Given the description of an element on the screen output the (x, y) to click on. 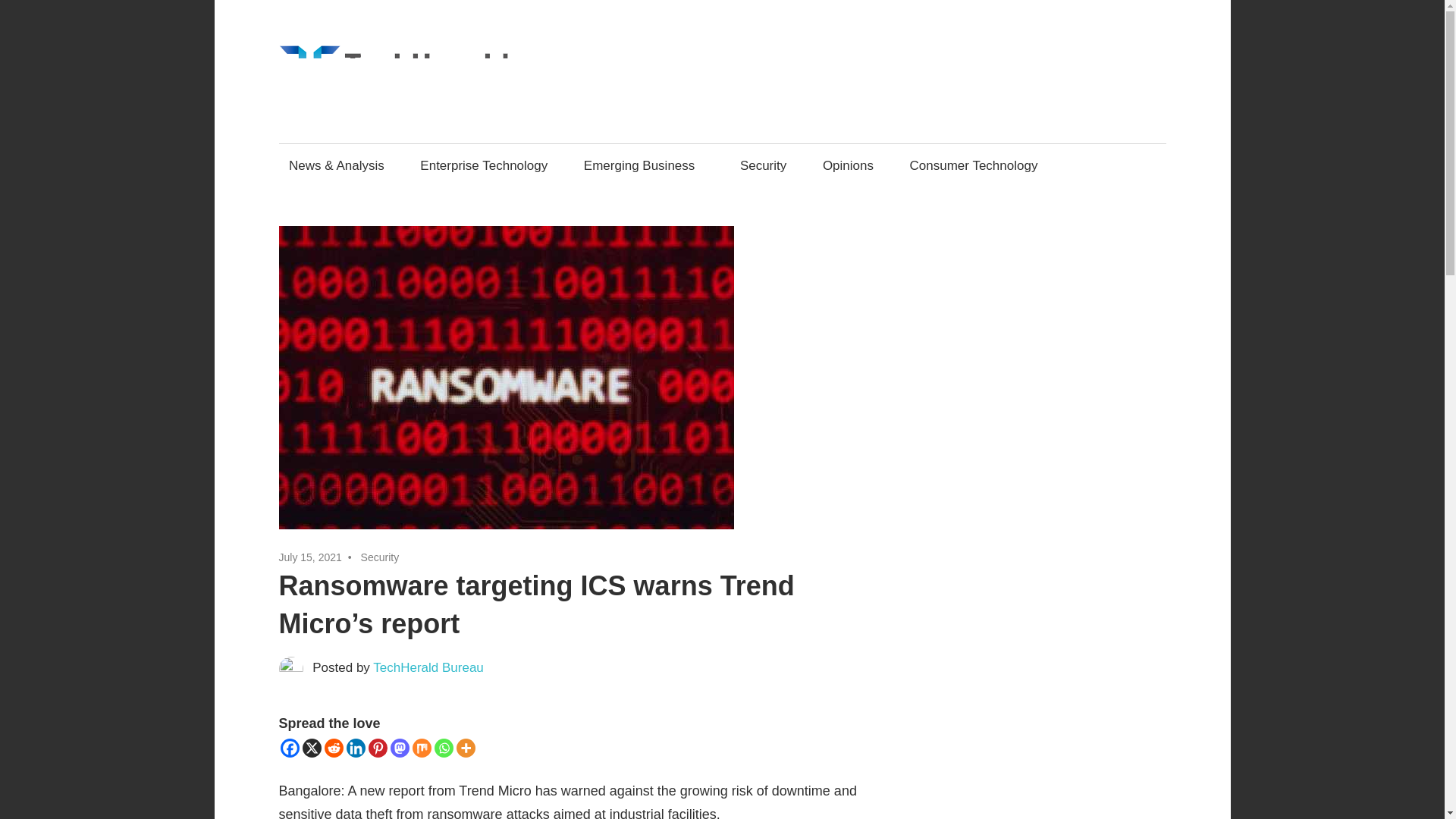
Whatsapp (442, 747)
Security (762, 164)
View all posts by TechHerald Bureau (427, 667)
Linkedin (355, 747)
TechHerald Bureau (427, 667)
Emerging Business (643, 164)
Consumer Technology (973, 164)
Reddit (333, 747)
Opinions (847, 164)
X (310, 747)
July 15, 2021 (310, 557)
More (466, 747)
Security (379, 557)
Facebook (290, 747)
Enterprise Technology (483, 164)
